Given the description of an element on the screen output the (x, y) to click on. 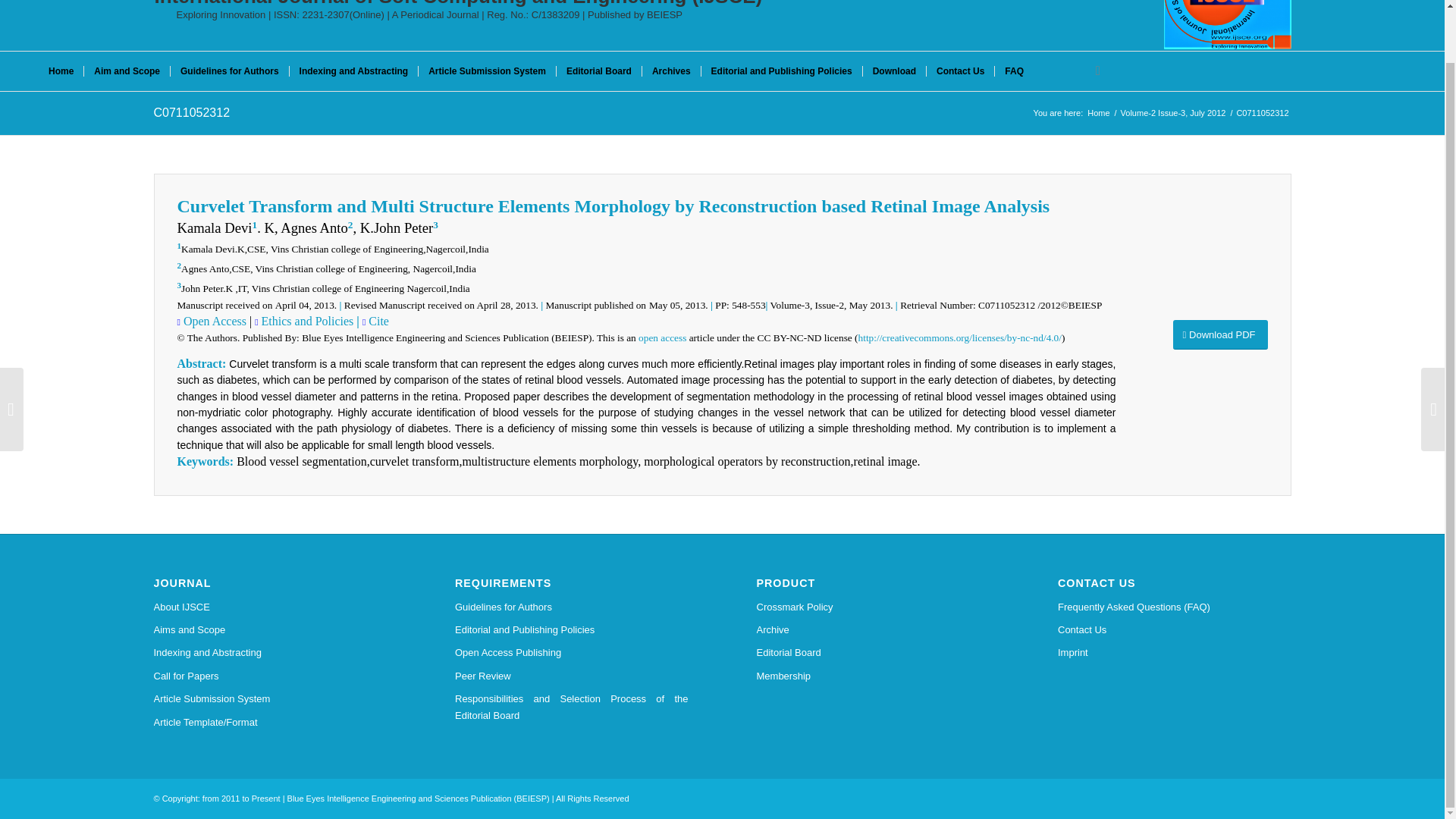
Editorial and Publishing Policies (780, 71)
Ethics and Policies (306, 320)
Editorial Board (599, 71)
FAQ (1013, 71)
Aim and Scope (126, 71)
Open Access (213, 320)
Archives (671, 71)
Open Access Publishing (571, 652)
Crossmark Policy (873, 607)
Permanent Link: C0711052312 (191, 112)
